Given the description of an element on the screen output the (x, y) to click on. 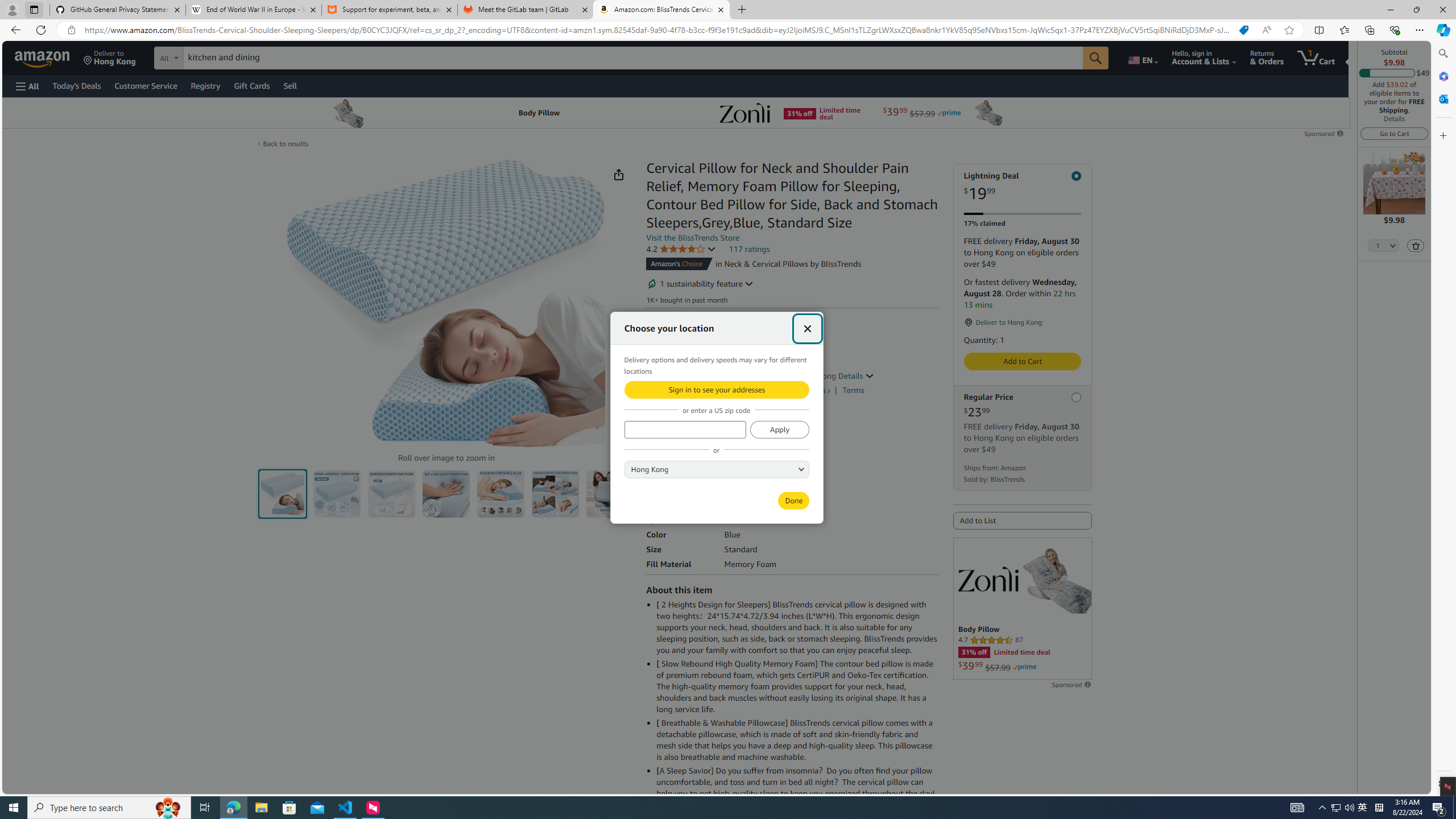
Grey (684, 433)
Apply (779, 429)
Choose a language for shopping. (1142, 57)
Quantity Selector (1383, 246)
Sustainability features 1 sustainability feature  (700, 283)
Blue (657, 432)
Details (1393, 118)
Lightning Deal $19.99 (1022, 186)
